Given the description of an element on the screen output the (x, y) to click on. 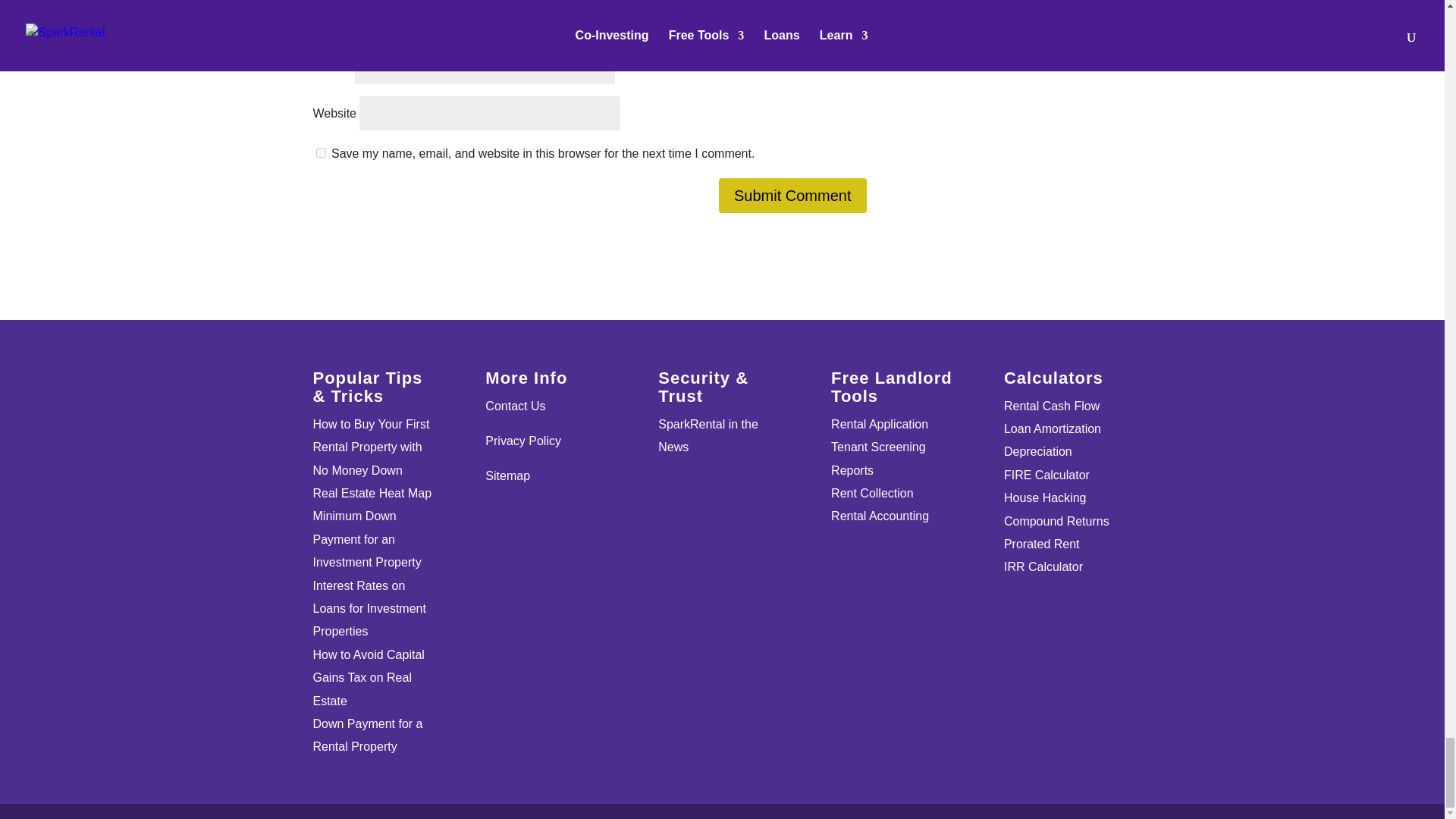
yes (319, 153)
Trusted Site Seal for White background (722, 626)
Submit Comment (792, 195)
